Given the description of an element on the screen output the (x, y) to click on. 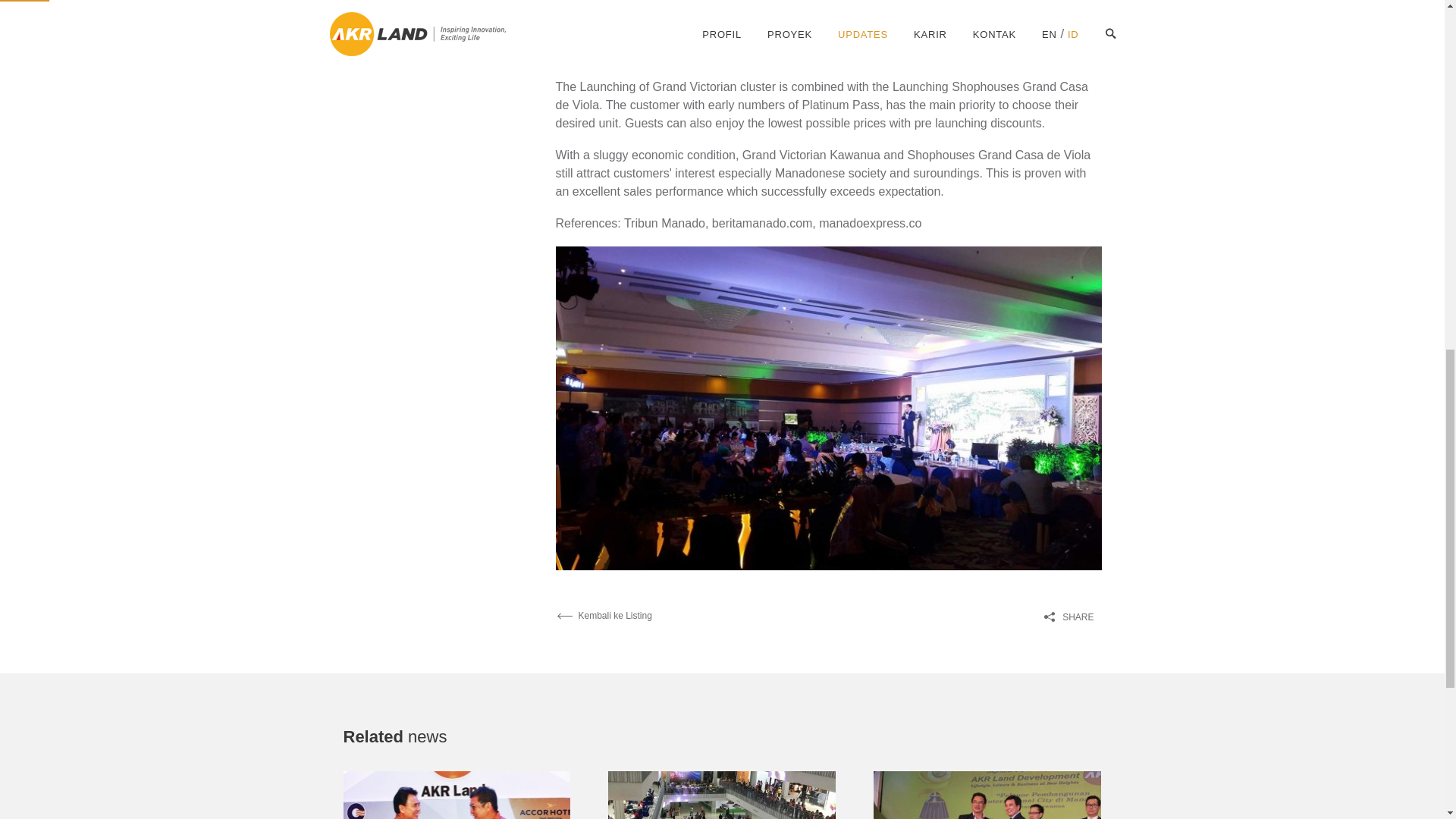
SHARE (1071, 617)
Kembali ke Listing (602, 615)
Share (1071, 617)
Kembali ke Listing (602, 615)
